Given the description of an element on the screen output the (x, y) to click on. 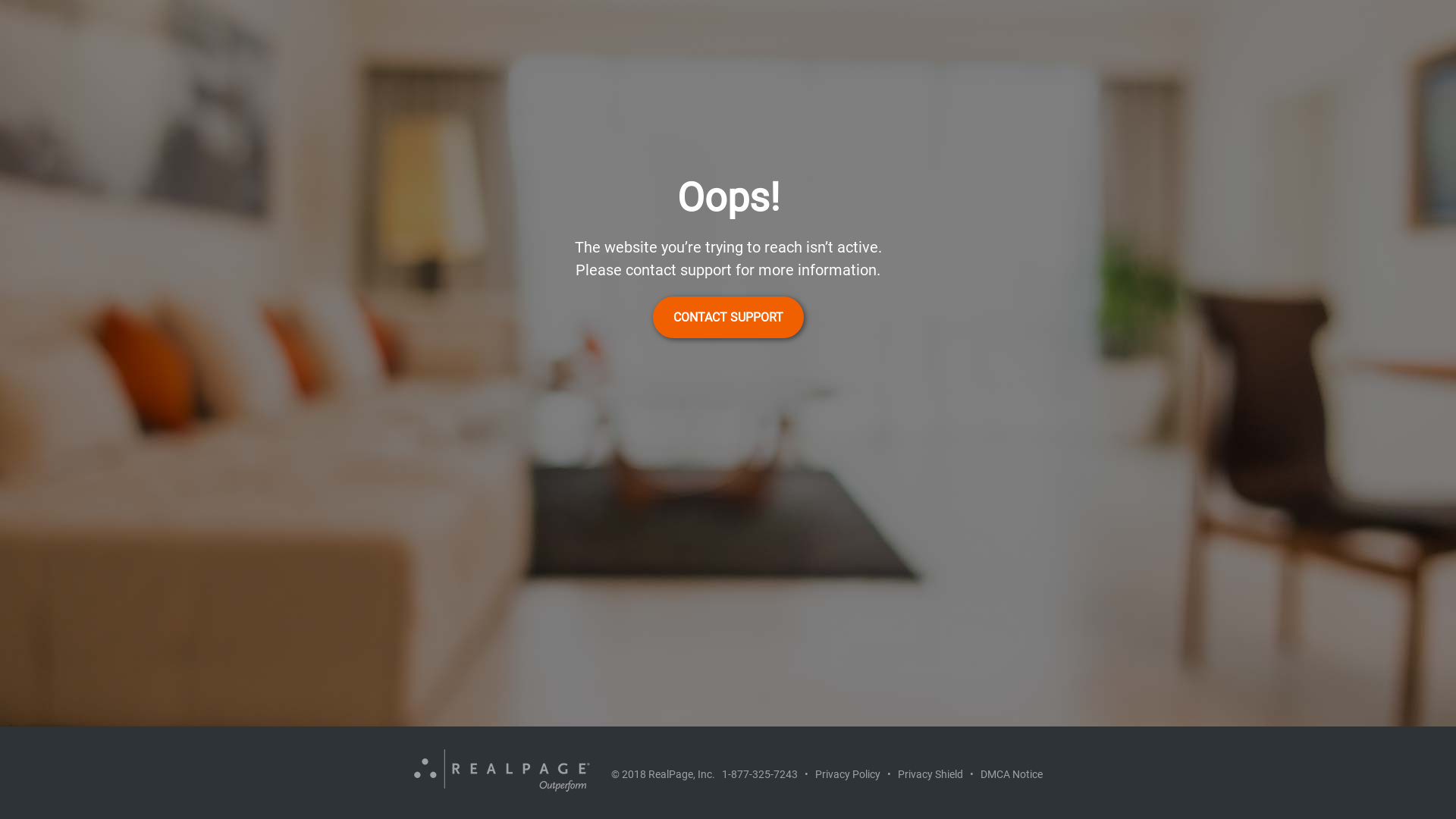
DMCA Notice Element type: text (1010, 774)
CONTACT SUPPORT Element type: text (727, 317)
Privacy Shield Element type: text (930, 774)
Privacy Policy Element type: text (846, 774)
